Given the description of an element on the screen output the (x, y) to click on. 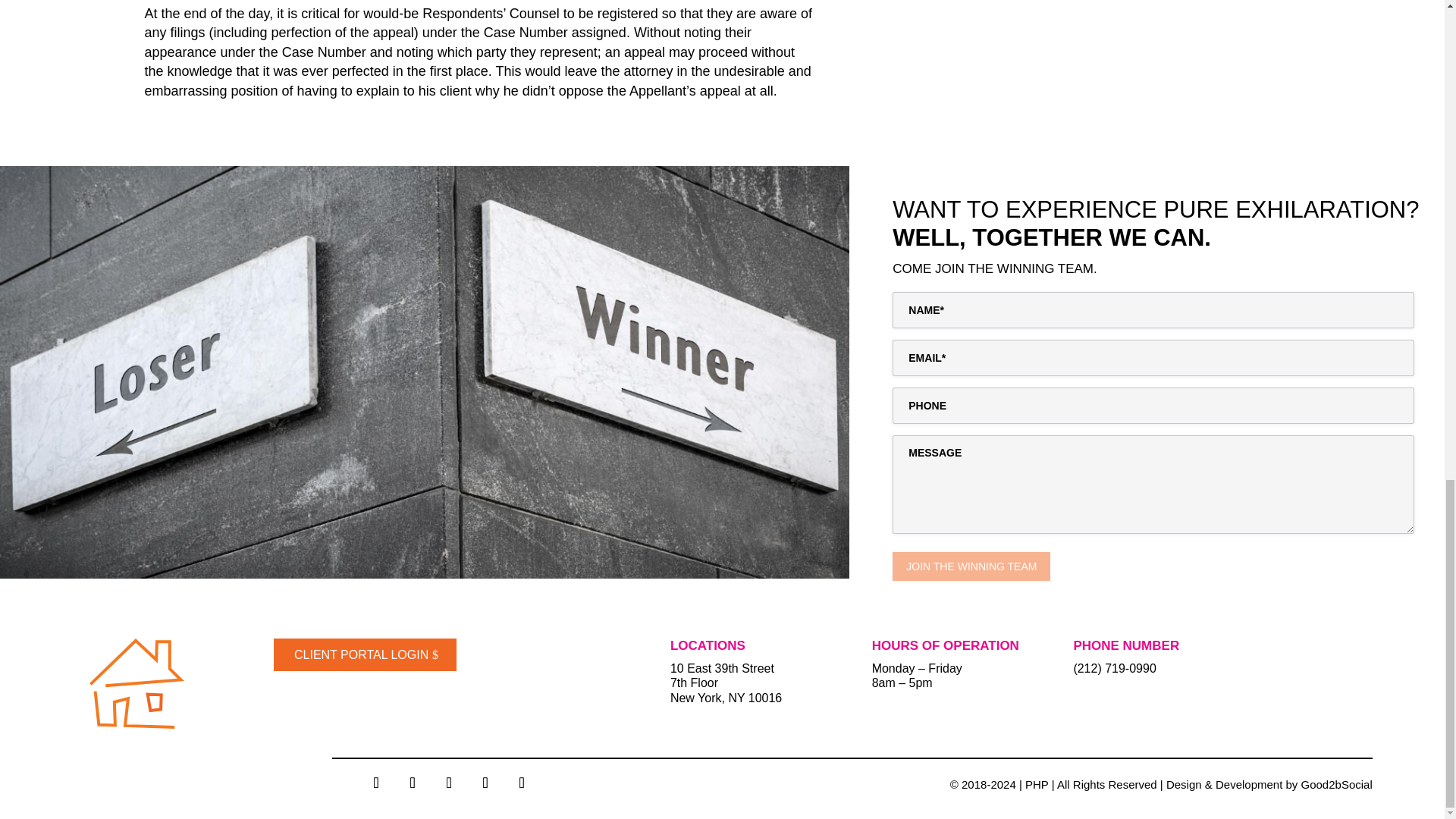
Follow on Youtube (521, 782)
Follow on Instagram (412, 782)
Follow on LinkedIn (485, 782)
Follow on X (448, 782)
Follow on Facebook (376, 782)
JOIN THE WINNING TEAM (970, 566)
